Given the description of an element on the screen output the (x, y) to click on. 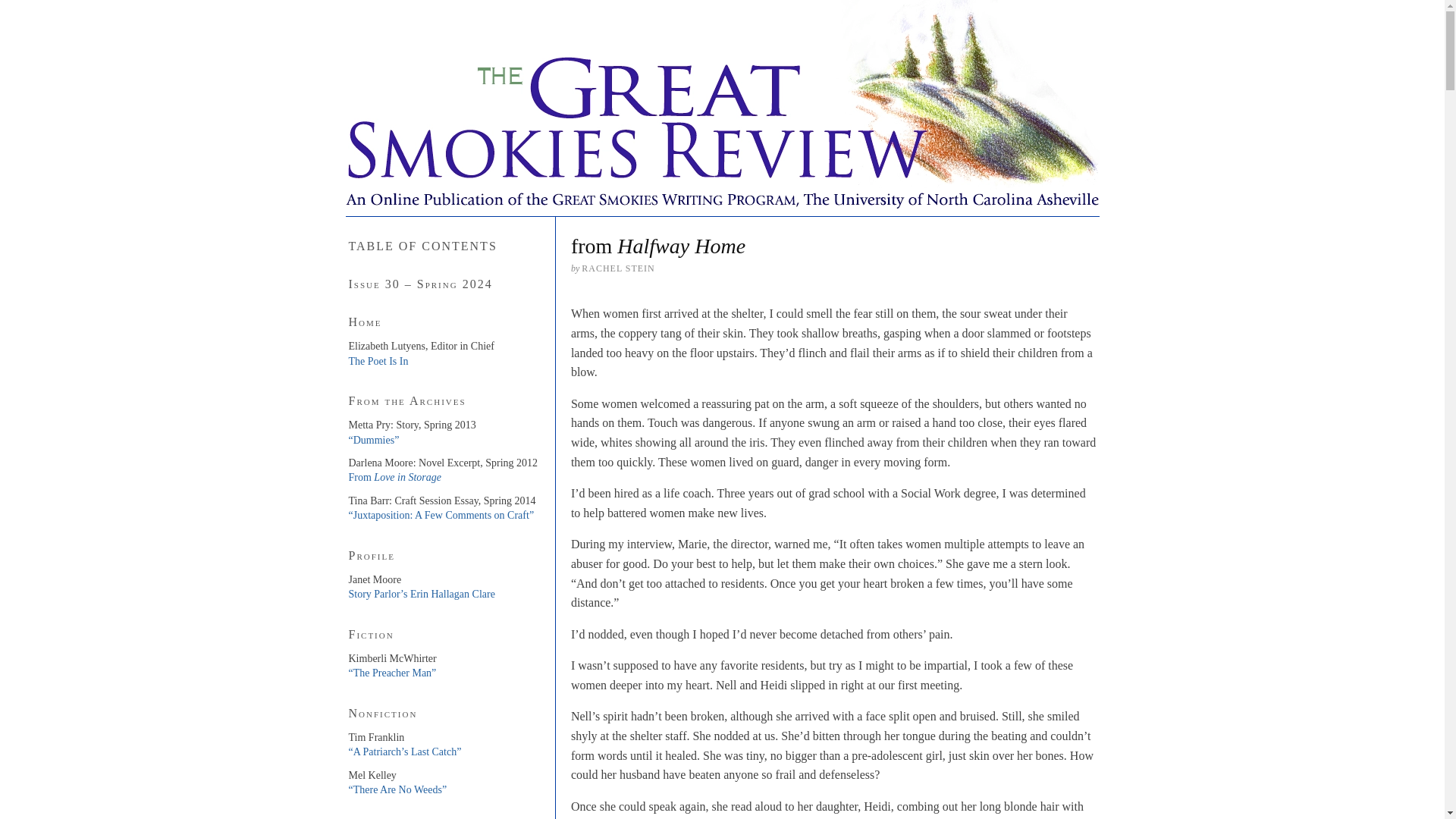
Click to read The Poet Is In (379, 360)
Click to read There Are No Weeds (397, 789)
Click to read The Preacher Man (392, 672)
The Poet Is In (379, 360)
Juxtaposition: A Few Comments on Craft (441, 514)
Click to read from Love in Storage (395, 477)
Click to read Profile (422, 593)
From Love in Storage (395, 477)
Click to read Dummies (373, 439)
